Given the description of an element on the screen output the (x, y) to click on. 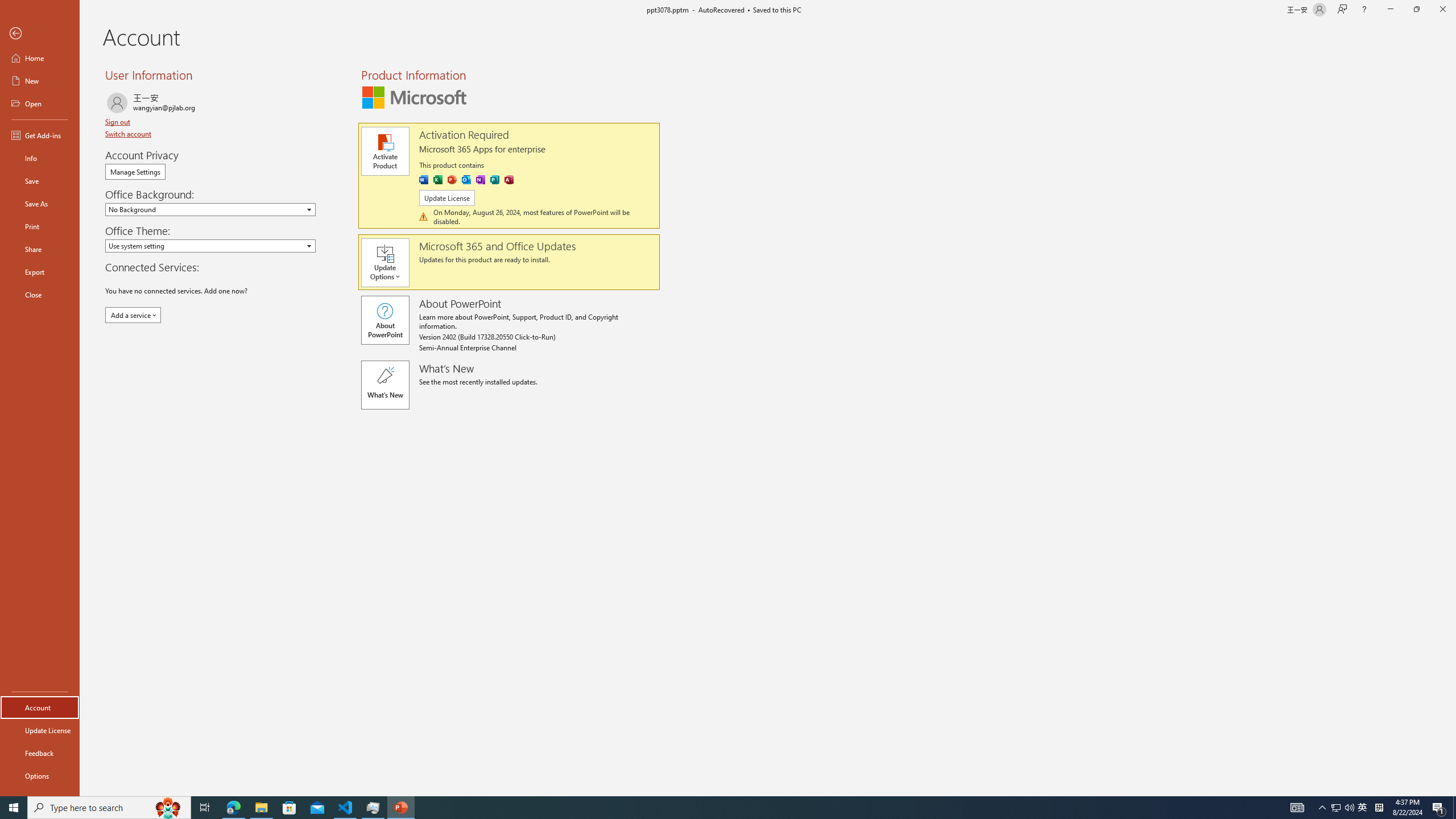
Language Chinese (Simplified, Mainland China) (210, 773)
Distributed (496, 102)
Increase Indent (537, 77)
Align Right (452, 102)
Decrease Indent (515, 77)
Shading RGB(0, 0, 0) (558, 102)
Character Border (374, 77)
